Given the description of an element on the screen output the (x, y) to click on. 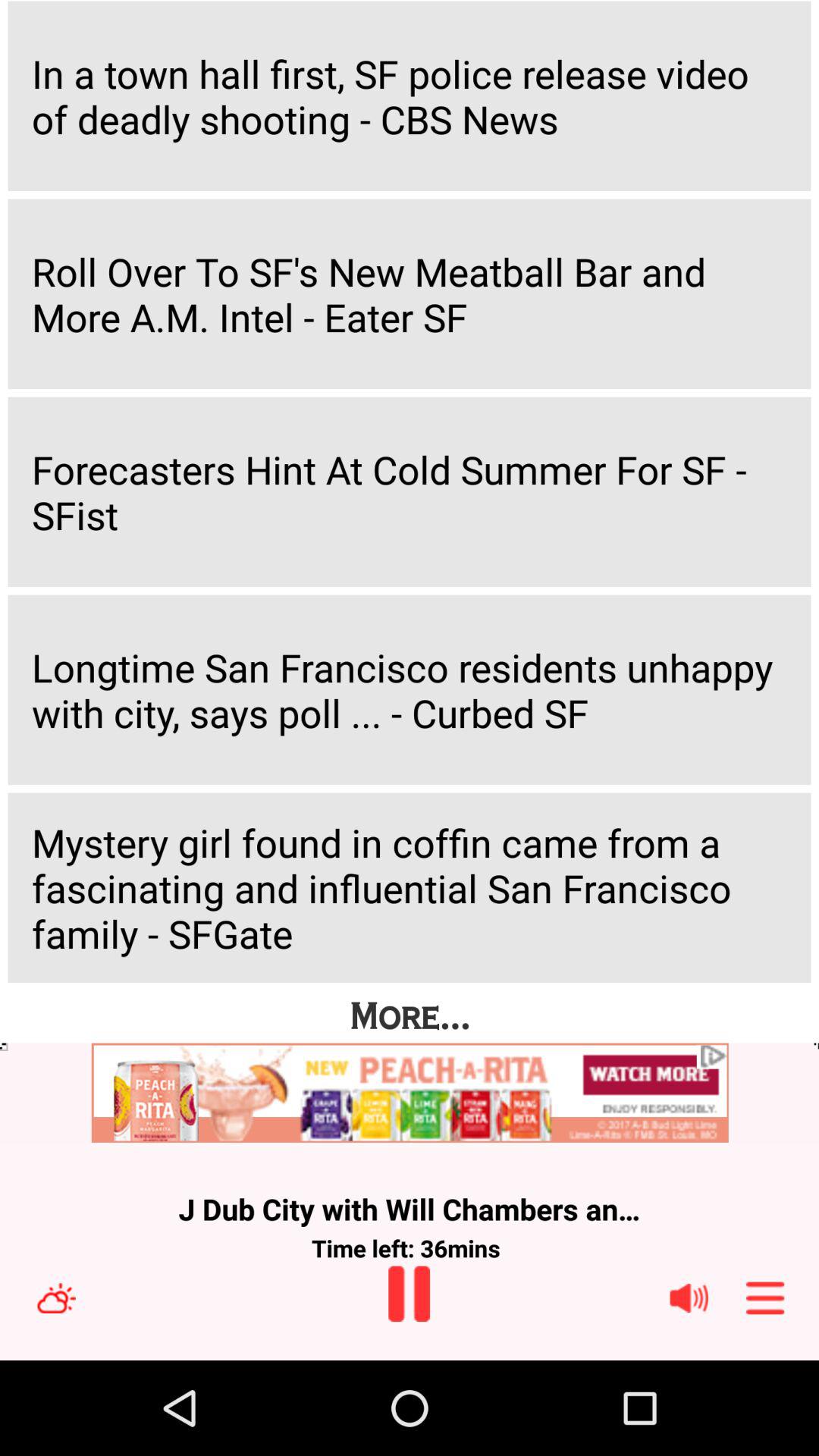
pause (408, 1293)
